Given the description of an element on the screen output the (x, y) to click on. 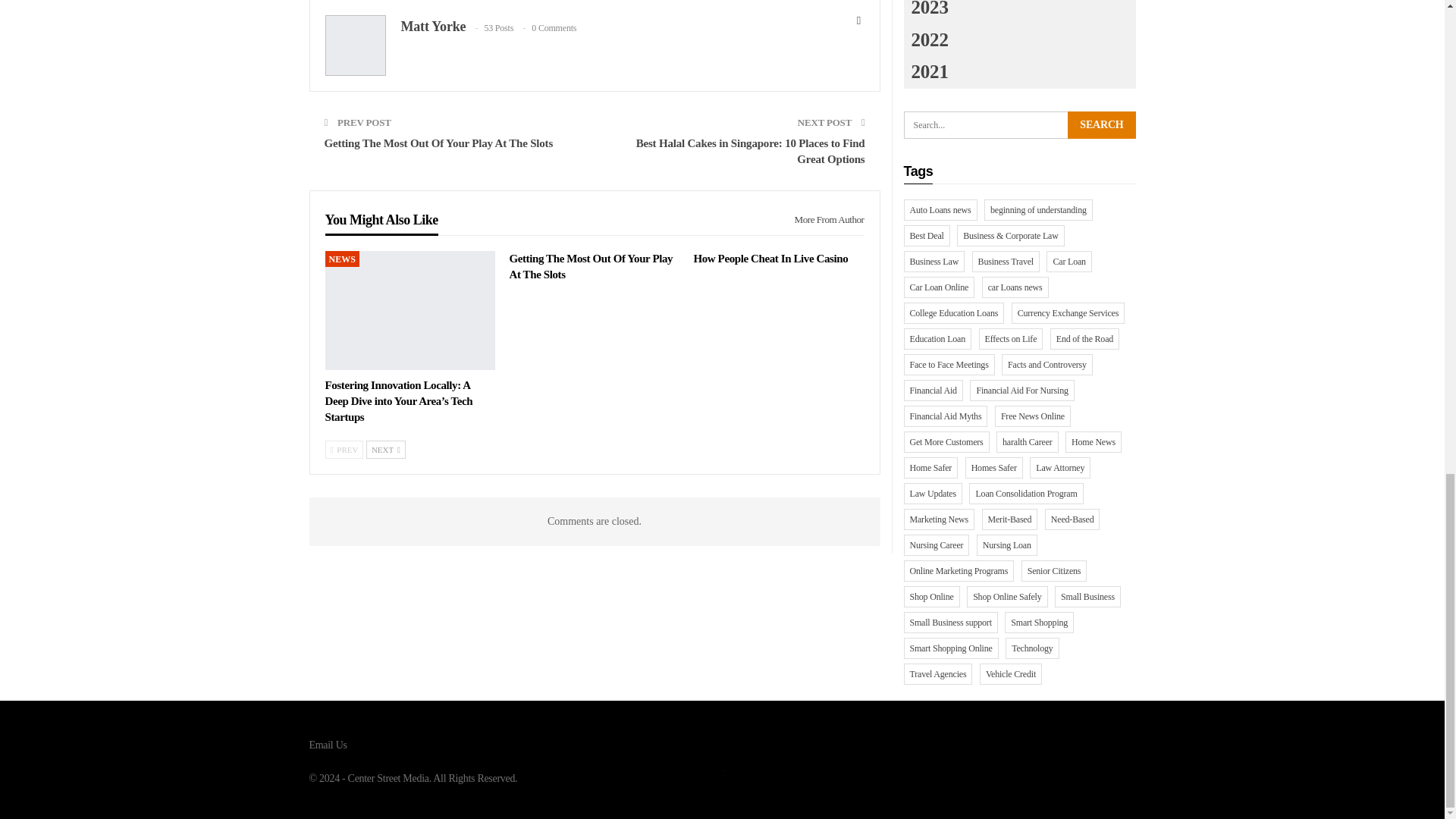
How People Cheat In Live Casino (770, 258)
Search (1101, 124)
Previous (343, 449)
Next (386, 449)
Getting The Most Out Of Your Play At The Slots (590, 266)
Search (1101, 124)
Matt Yorke (432, 26)
